Given the description of an element on the screen output the (x, y) to click on. 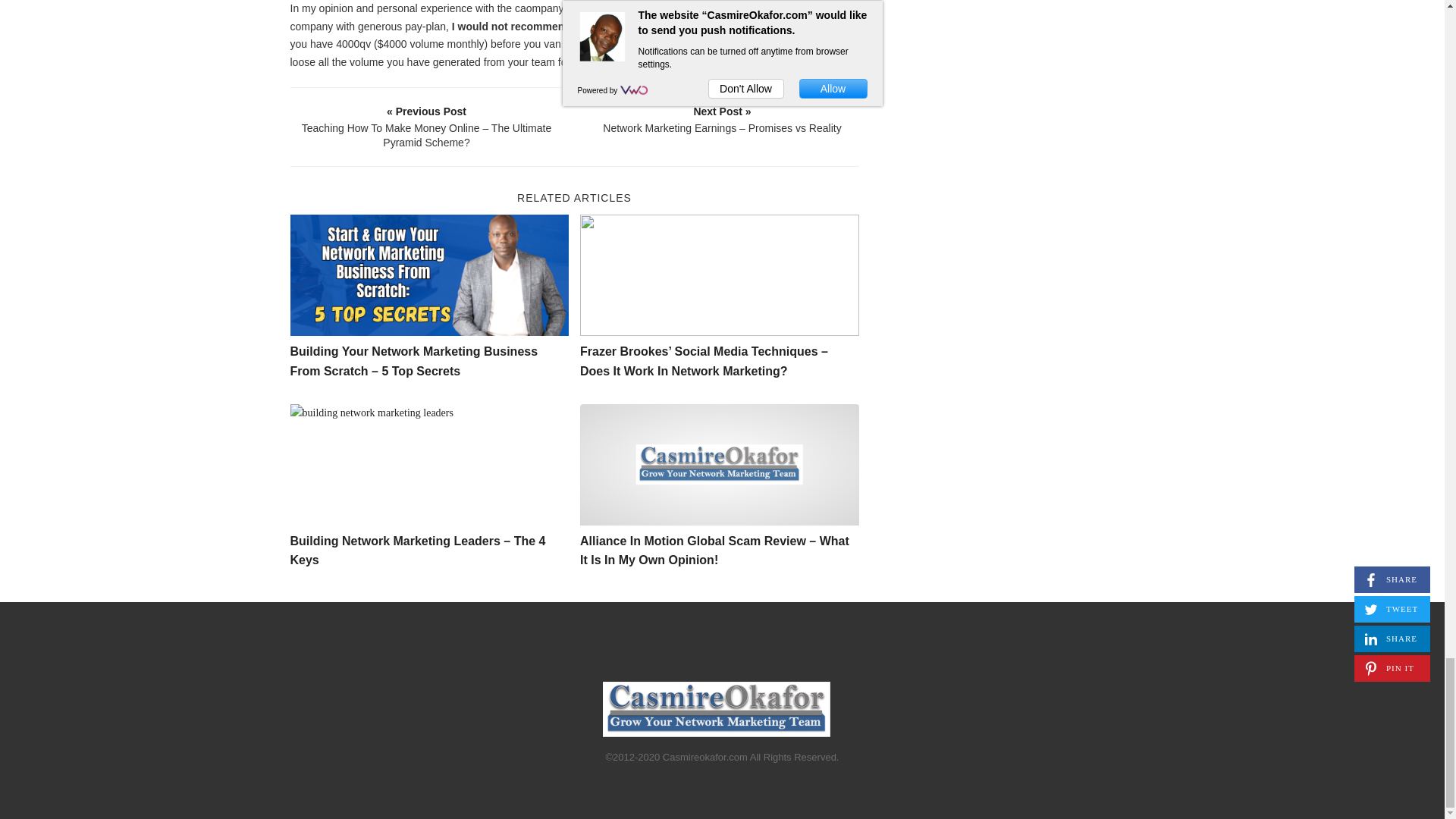
Casmire Okafor - MLM Coach In Nigeria (718, 464)
Casmire Okafor - MLM Coach In Nigeria (715, 709)
